Given the description of an element on the screen output the (x, y) to click on. 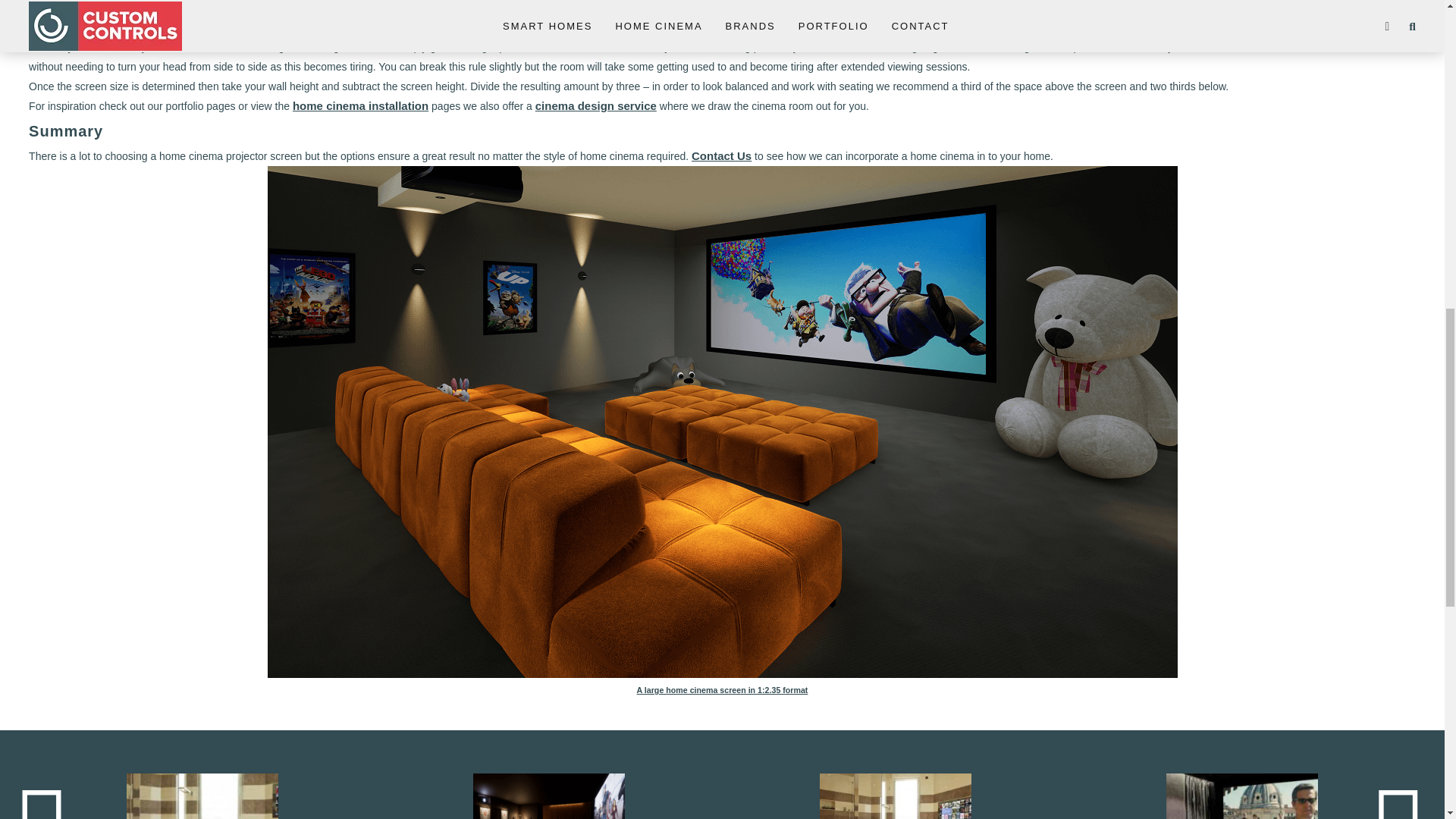
Movie Aspect ratios (1096, 26)
home cinema installation (360, 105)
cinema design service (595, 105)
